Given the description of an element on the screen output the (x, y) to click on. 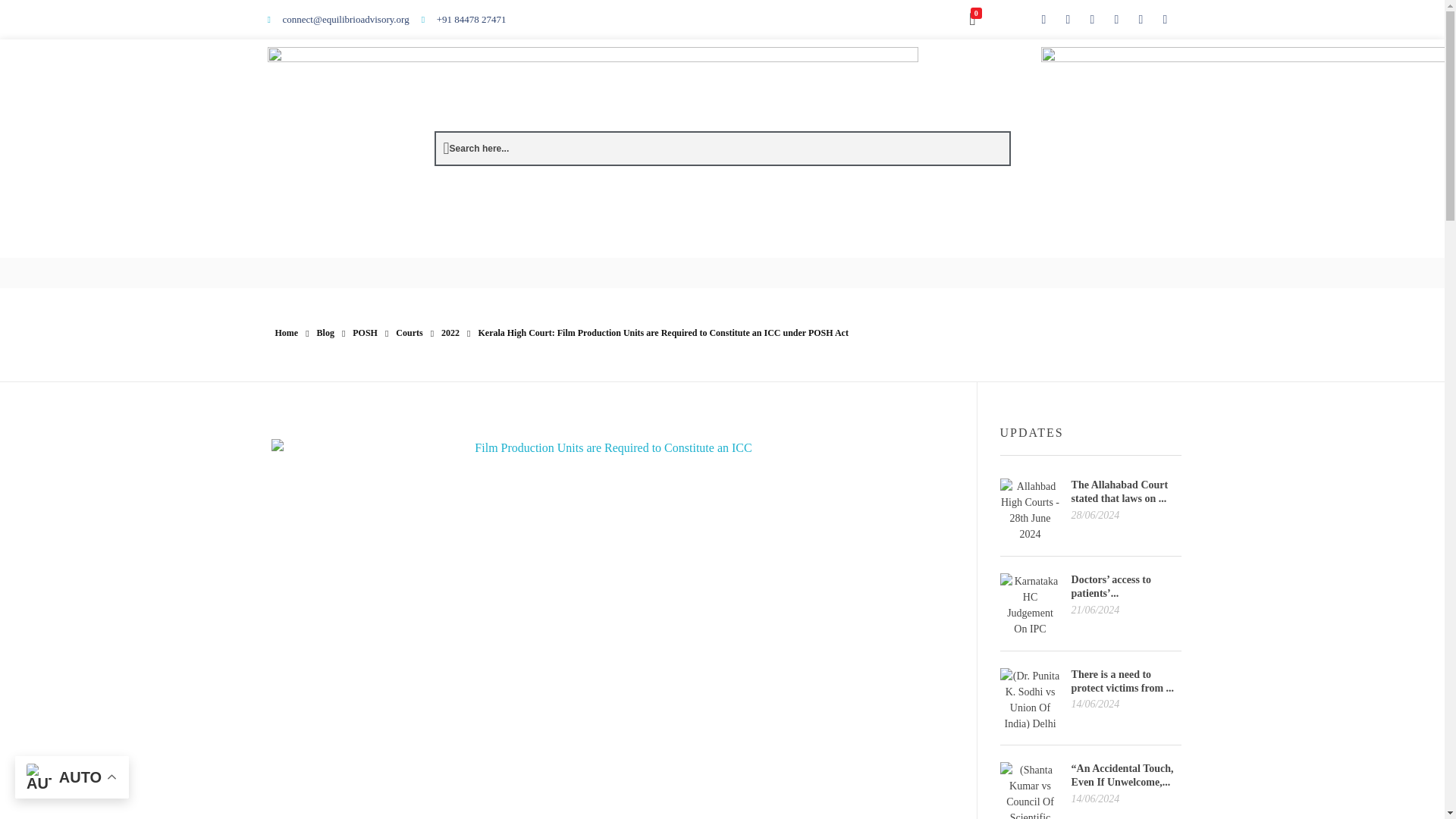
POSH (364, 332)
Search here... (475, 148)
Blog (325, 332)
Courts (409, 332)
Home (286, 332)
2022 (450, 332)
